Given the description of an element on the screen output the (x, y) to click on. 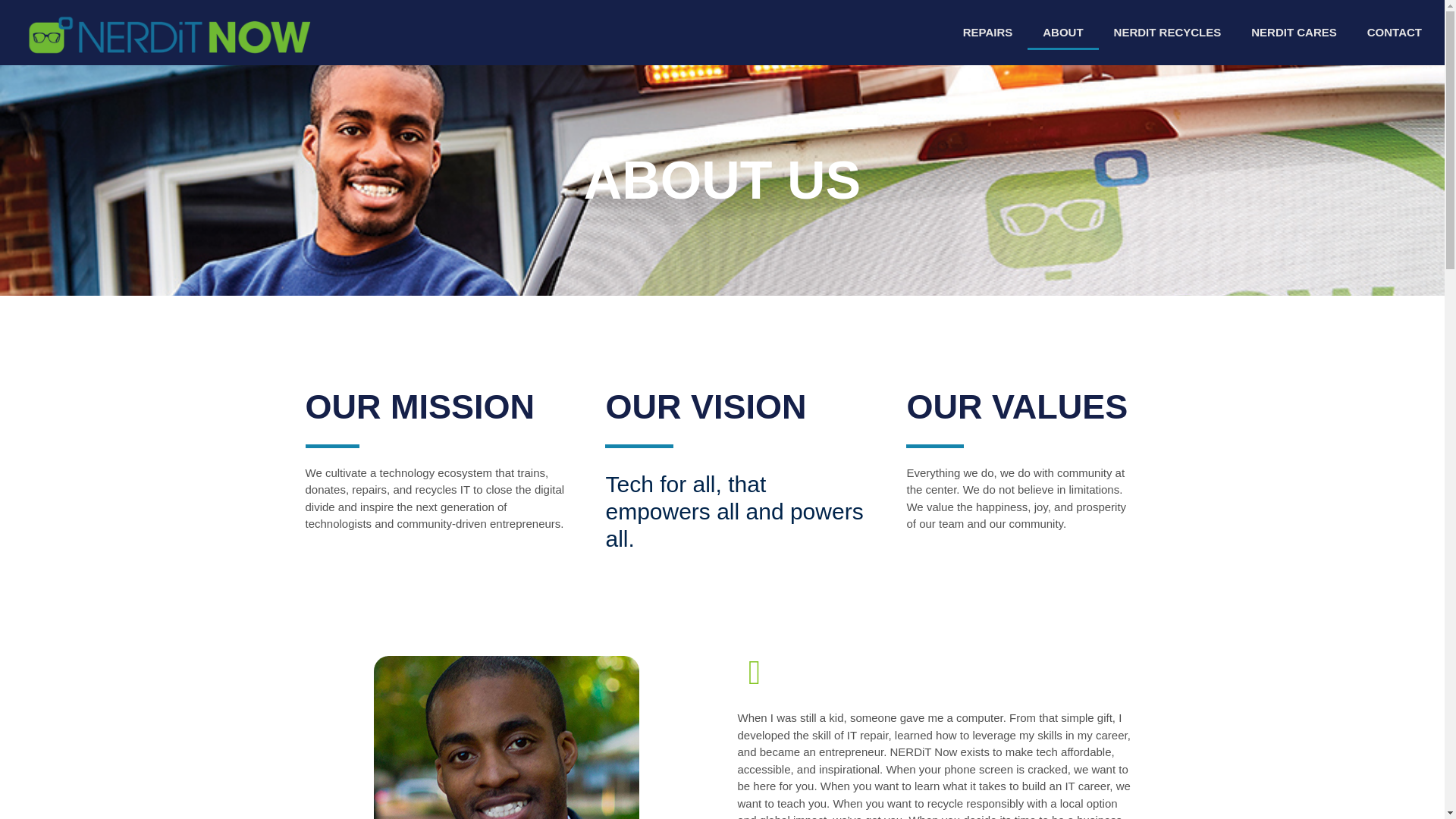
NERDIT CARES (1294, 32)
ABOUT US (722, 180)
ABOUT (1062, 32)
Tech for all, that empowers all and powers all. (740, 515)
OUR MISSION (439, 406)
OUR VISION (902, 32)
OUR VALUES (740, 406)
REPAIRS (1020, 406)
